Given the description of an element on the screen output the (x, y) to click on. 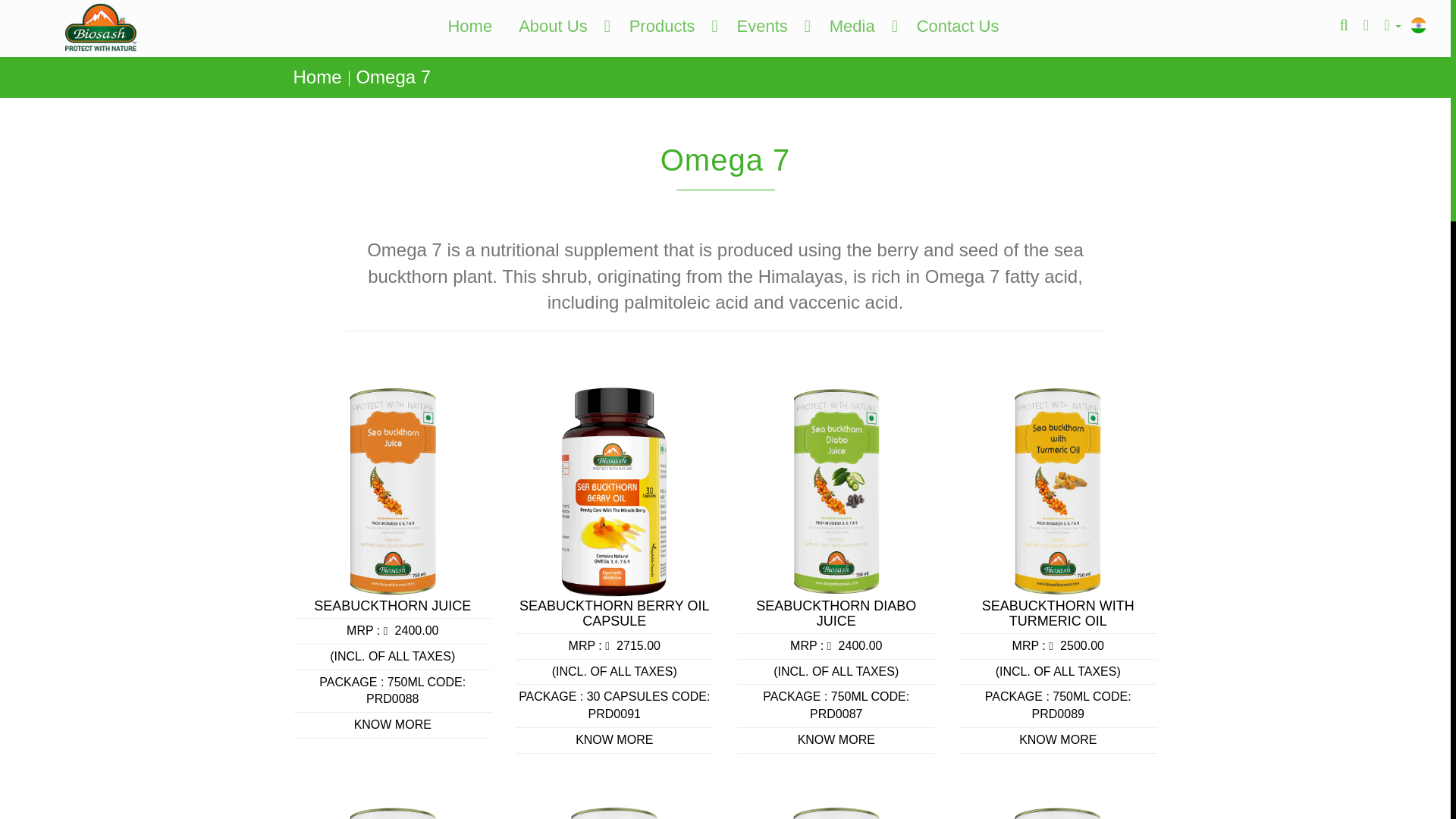
Products (669, 26)
Home (469, 26)
Home (316, 77)
About Us (560, 26)
Contact Us (957, 26)
BioSash Homepage (469, 26)
Media (859, 26)
Events (769, 26)
Events (769, 26)
About Us (560, 26)
